Given the description of an element on the screen output the (x, y) to click on. 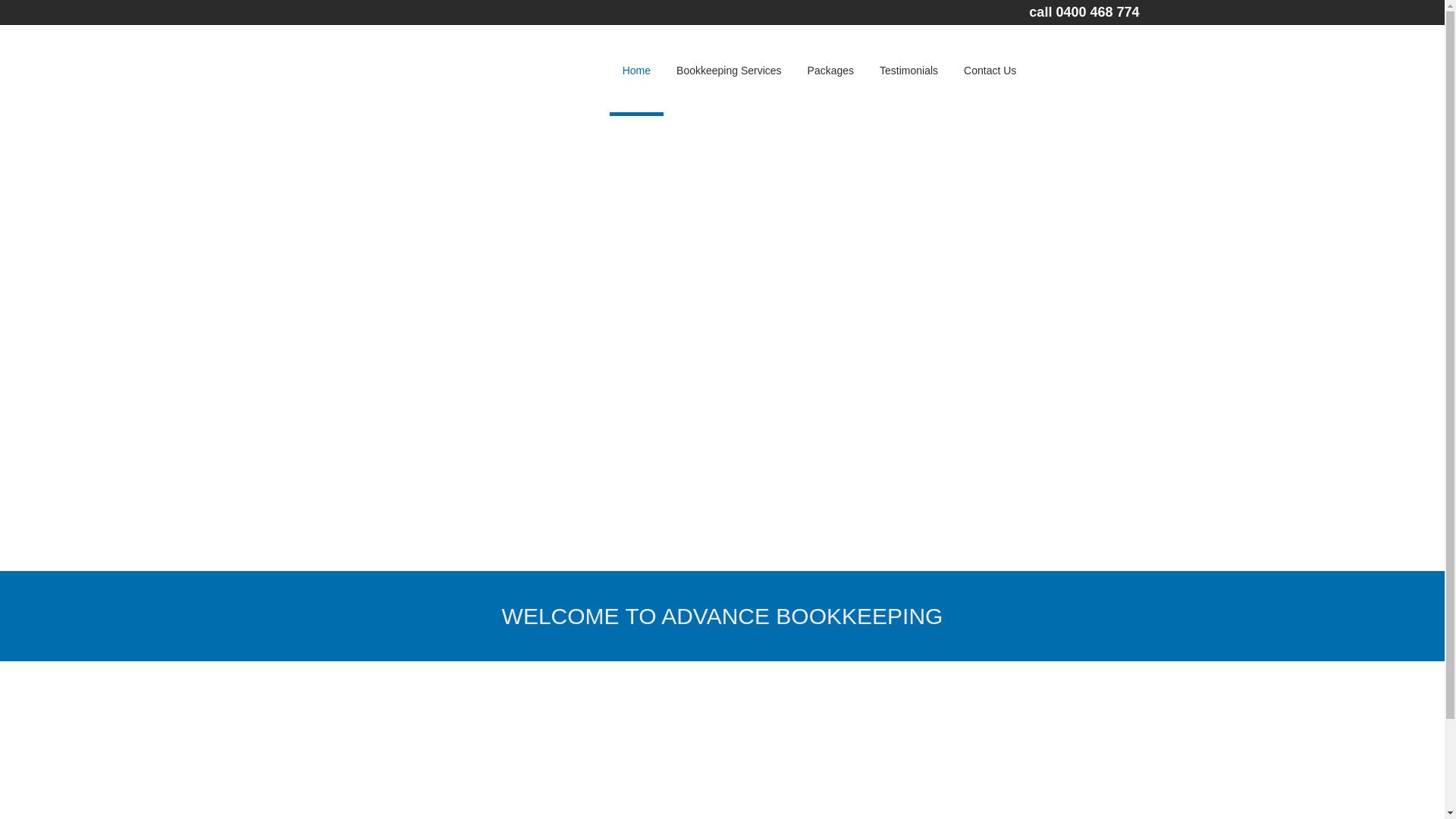
Testimonials (908, 70)
Bookkeeping Services (728, 70)
call 0400 468 774 (1083, 11)
